Given the description of an element on the screen output the (x, y) to click on. 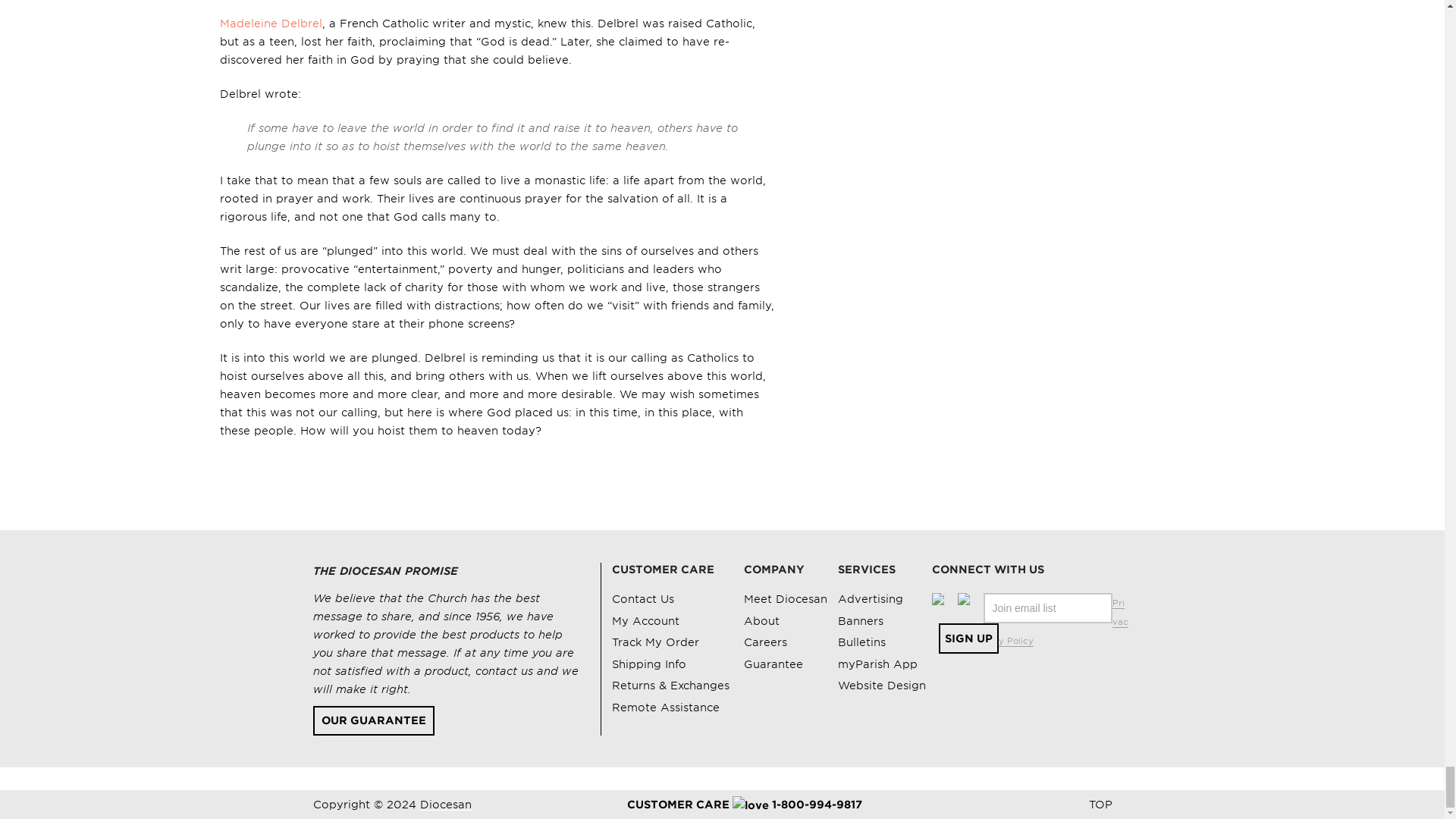
SIGN UP (968, 638)
